Given the description of an element on the screen output the (x, y) to click on. 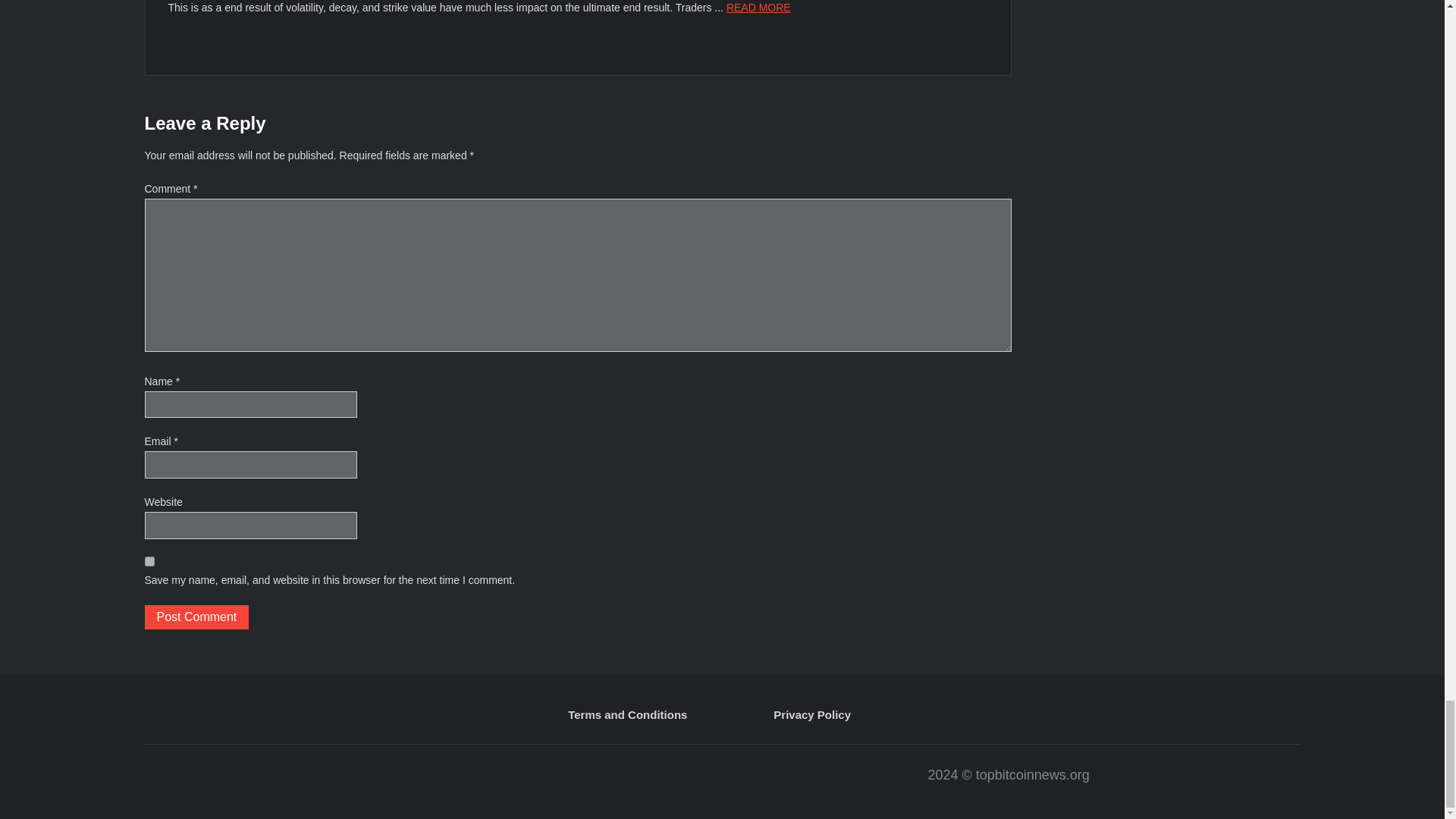
DMCA.com Protection Status (430, 781)
yes (149, 561)
Post Comment (196, 617)
